Given the description of an element on the screen output the (x, y) to click on. 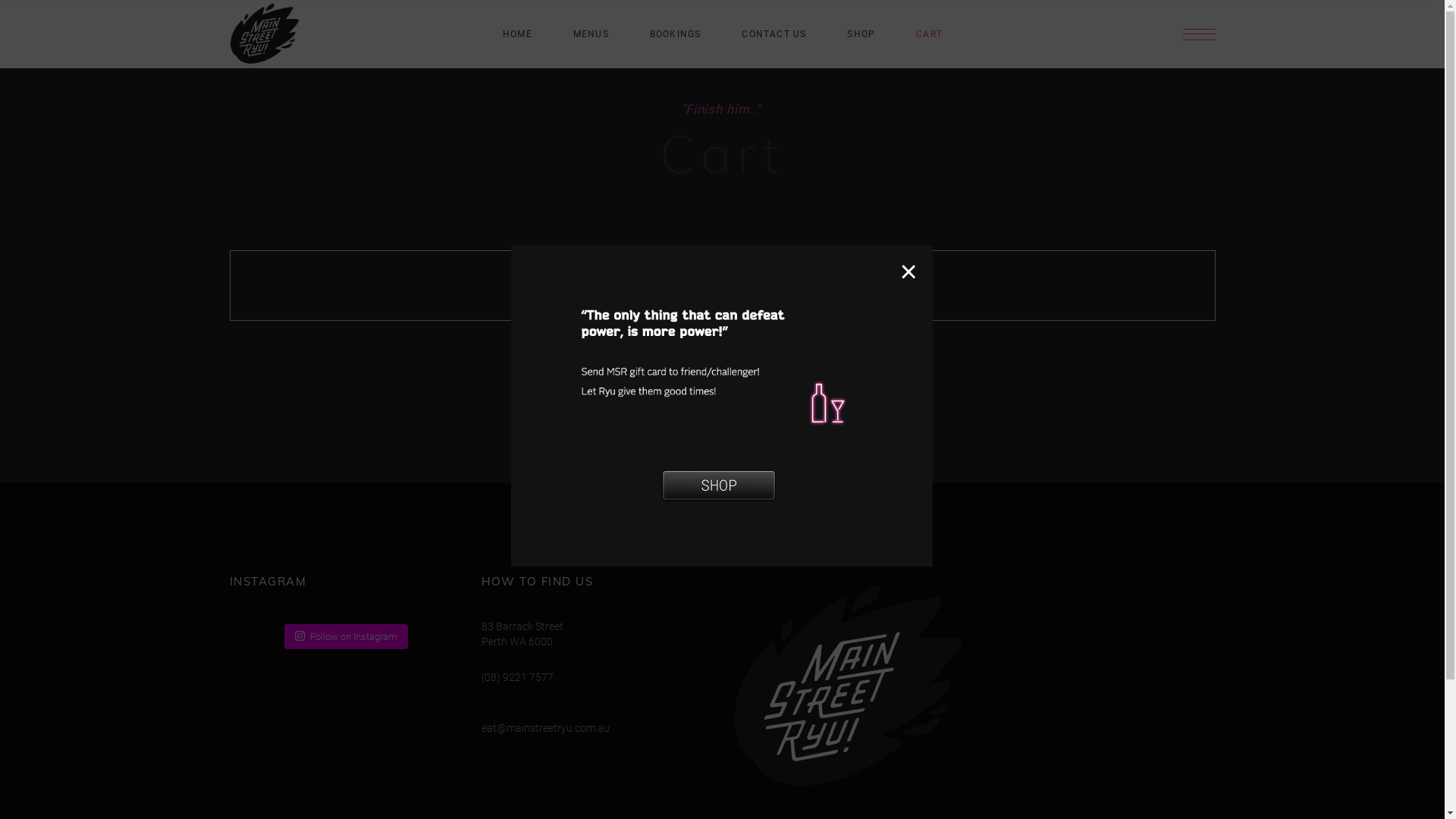
eat@mainstreetryu.com.au Element type: text (545, 727)
Follow on Instagram Element type: text (345, 636)
SHOP Element type: text (860, 34)
SHOP Element type: text (718, 485)
RETURN TO SHOP Element type: text (721, 361)
CART Element type: text (929, 34)
HOME Element type: text (517, 34)
BOOKINGS Element type: text (675, 34)
83 Barrack Street Element type: text (522, 626)
MENUS Element type: text (590, 34)
Perth WA 6000 Element type: text (516, 641)
CONTACT US Element type: text (773, 34)
(08) 9221 7577 Element type: text (517, 676)
